Given the description of an element on the screen output the (x, y) to click on. 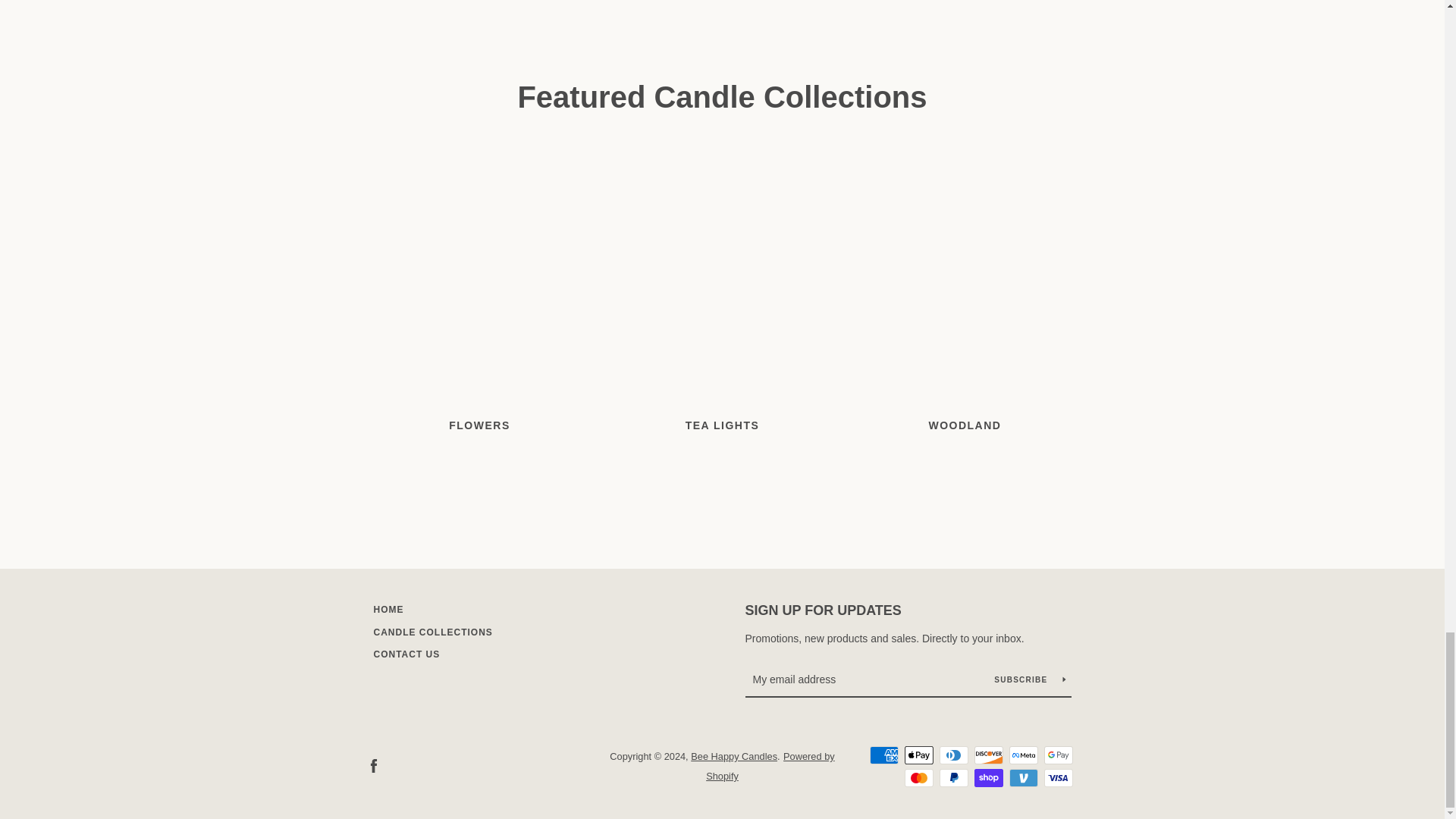
Mastercard (918, 778)
Shop Pay (988, 778)
HOME (387, 609)
PayPal (953, 778)
American Express (883, 755)
Powered by Shopify (770, 766)
Apple Pay (918, 755)
SUBSCRIBE (1029, 679)
Venmo (1022, 778)
Bee Happy Candles (733, 756)
CONTACT US (405, 654)
CANDLE COLLECTIONS (432, 632)
Facebook (372, 765)
Google Pay (1057, 755)
Visa (1057, 778)
